Given the description of an element on the screen output the (x, y) to click on. 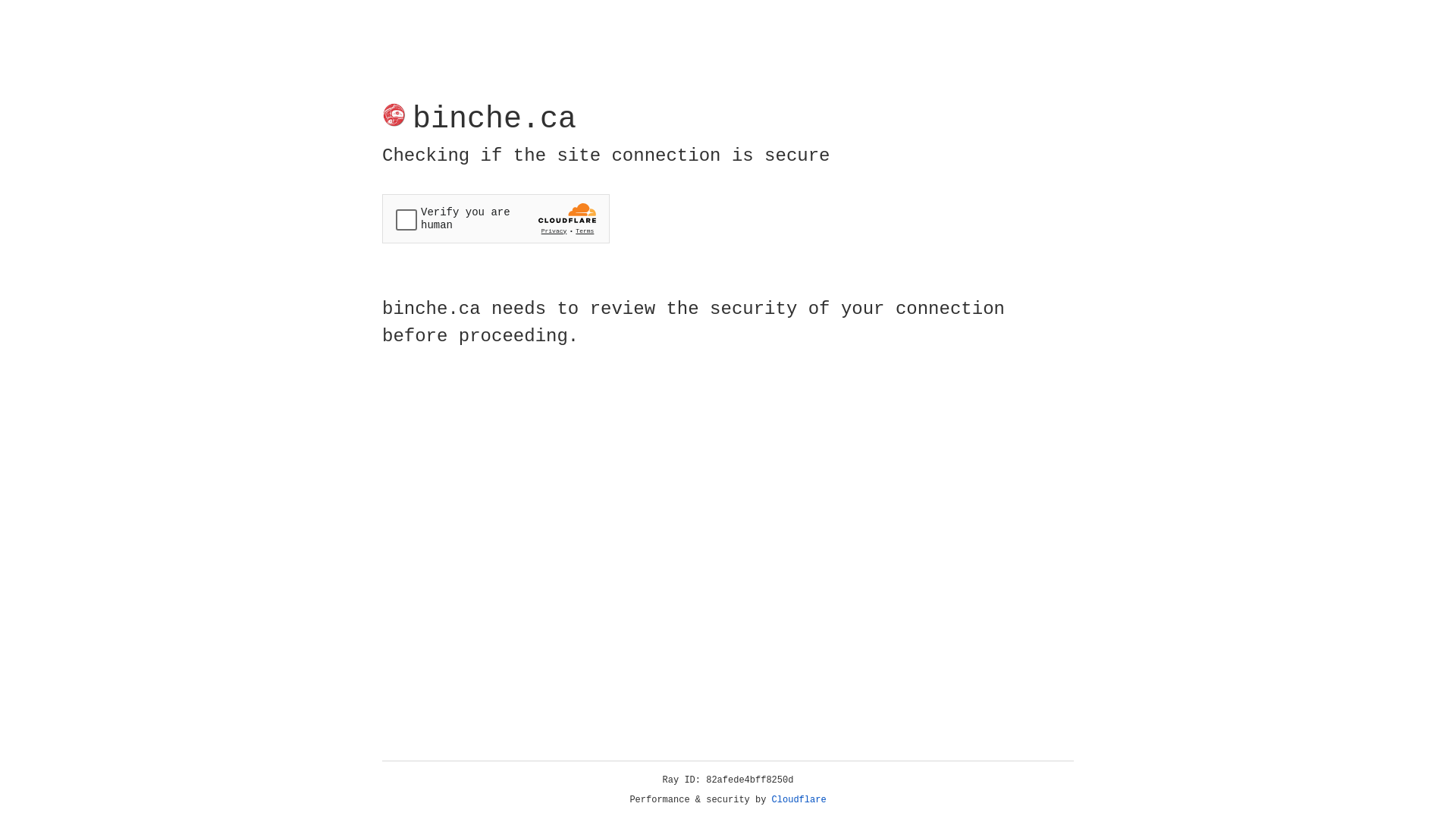
Cloudflare Element type: text (798, 799)
Widget containing a Cloudflare security challenge Element type: hover (495, 218)
